Given the description of an element on the screen output the (x, y) to click on. 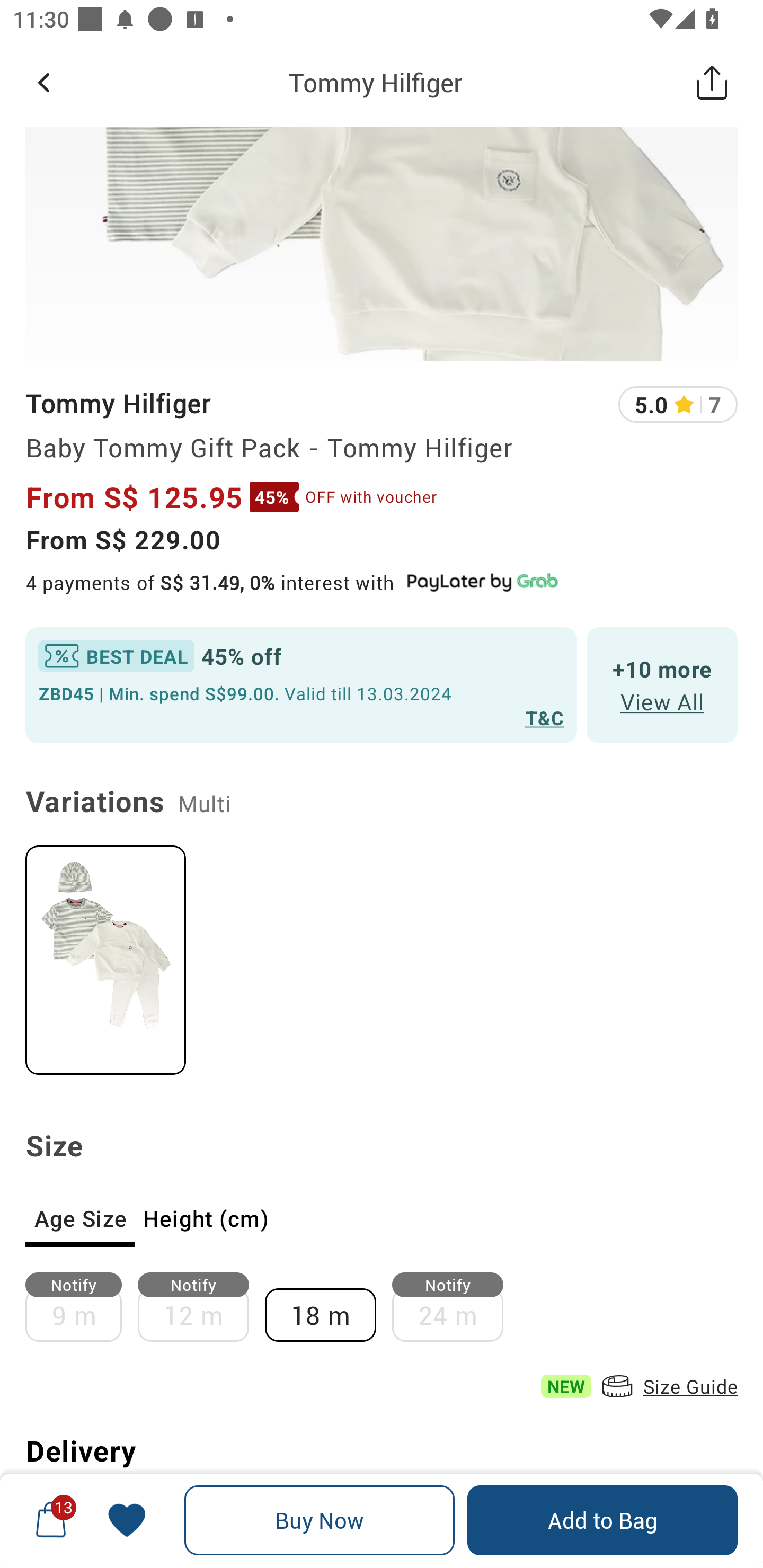
Tommy Hilfiger (375, 82)
Share this Product (711, 82)
Tommy Hilfiger (117, 402)
5.0 7 (677, 404)
+10 more
View All (661, 685)
T&C (544, 717)
Height (cm) (205, 1218)
Notify 9 m (81, 1306)
Notify 12 m (201, 1306)
18 m (328, 1306)
Notify 24 m (455, 1306)
Size Guide (667, 1385)
Buy Now (319, 1519)
Add to Bag (601, 1519)
13 (50, 1520)
